Given the description of an element on the screen output the (x, y) to click on. 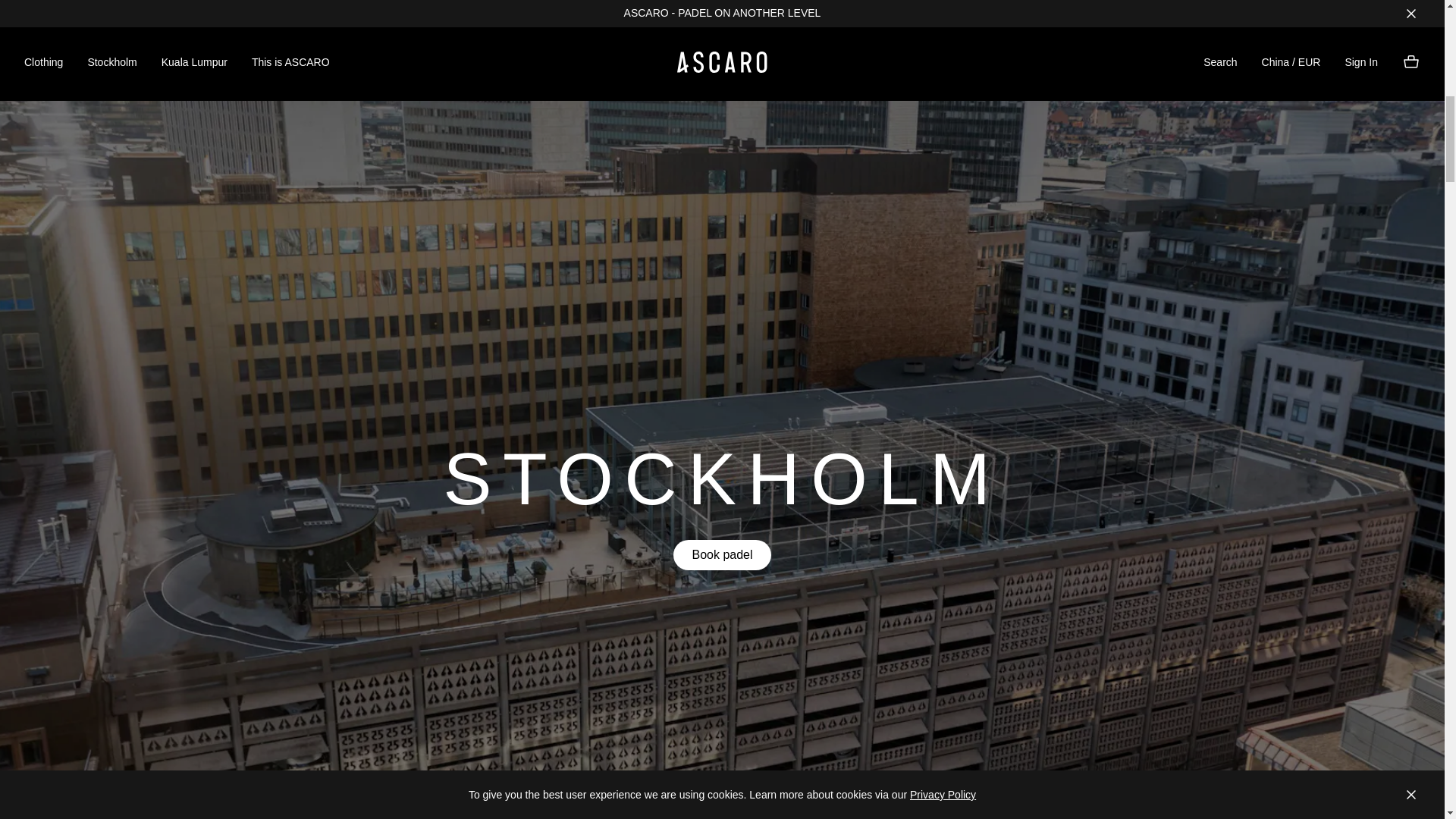
Book padel (721, 554)
